Given the description of an element on the screen output the (x, y) to click on. 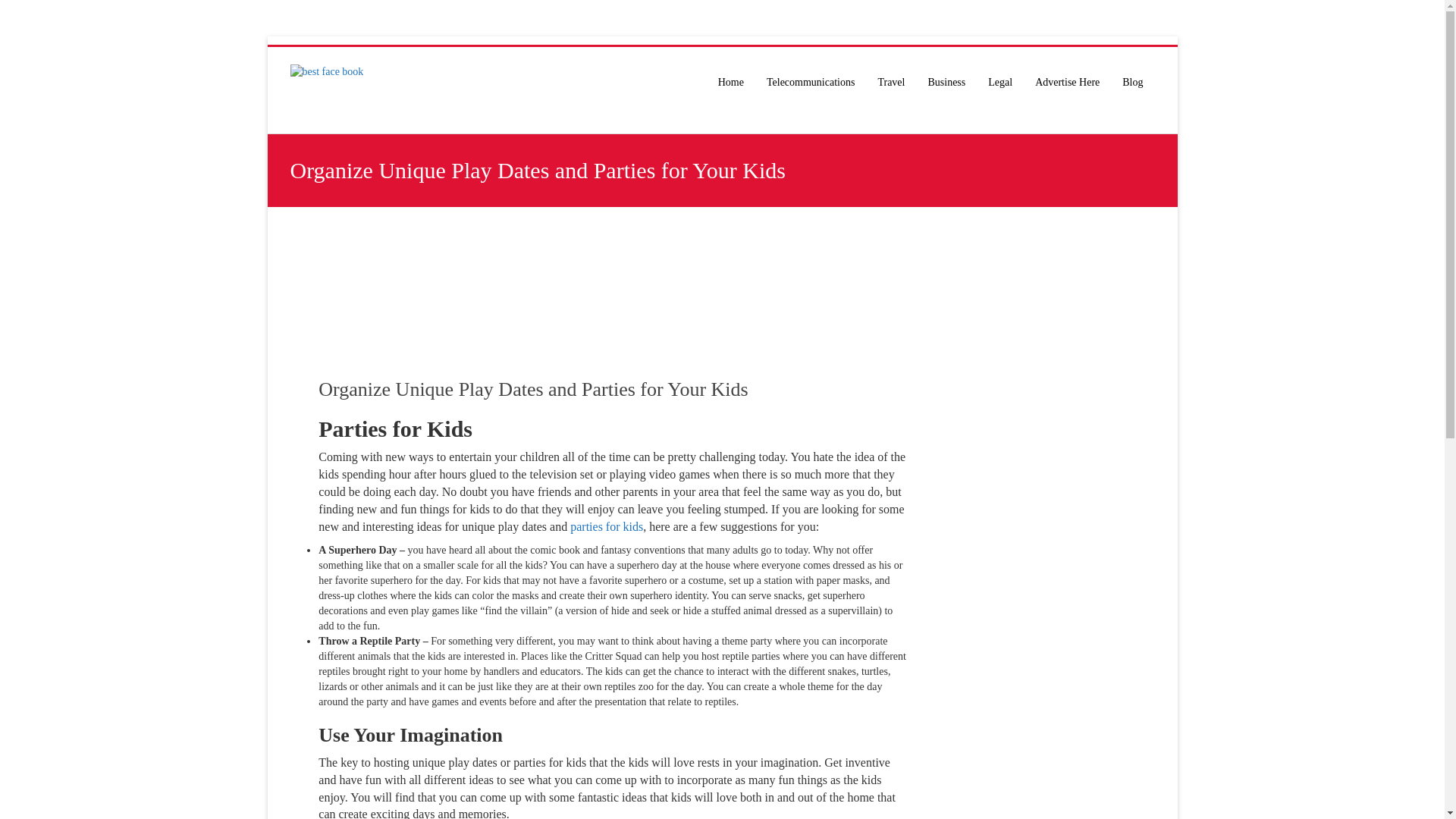
Home (730, 82)
Advertise Here (1066, 82)
Legal (999, 82)
Advertise Here (1066, 82)
Organize Unique Play Dates and Parties for Your Kids (533, 389)
parties for kids (605, 526)
Travel (890, 82)
Blog (1132, 82)
Organize Unique Play Dates and Parties for Your Kids (533, 389)
Travel (890, 82)
